Given the description of an element on the screen output the (x, y) to click on. 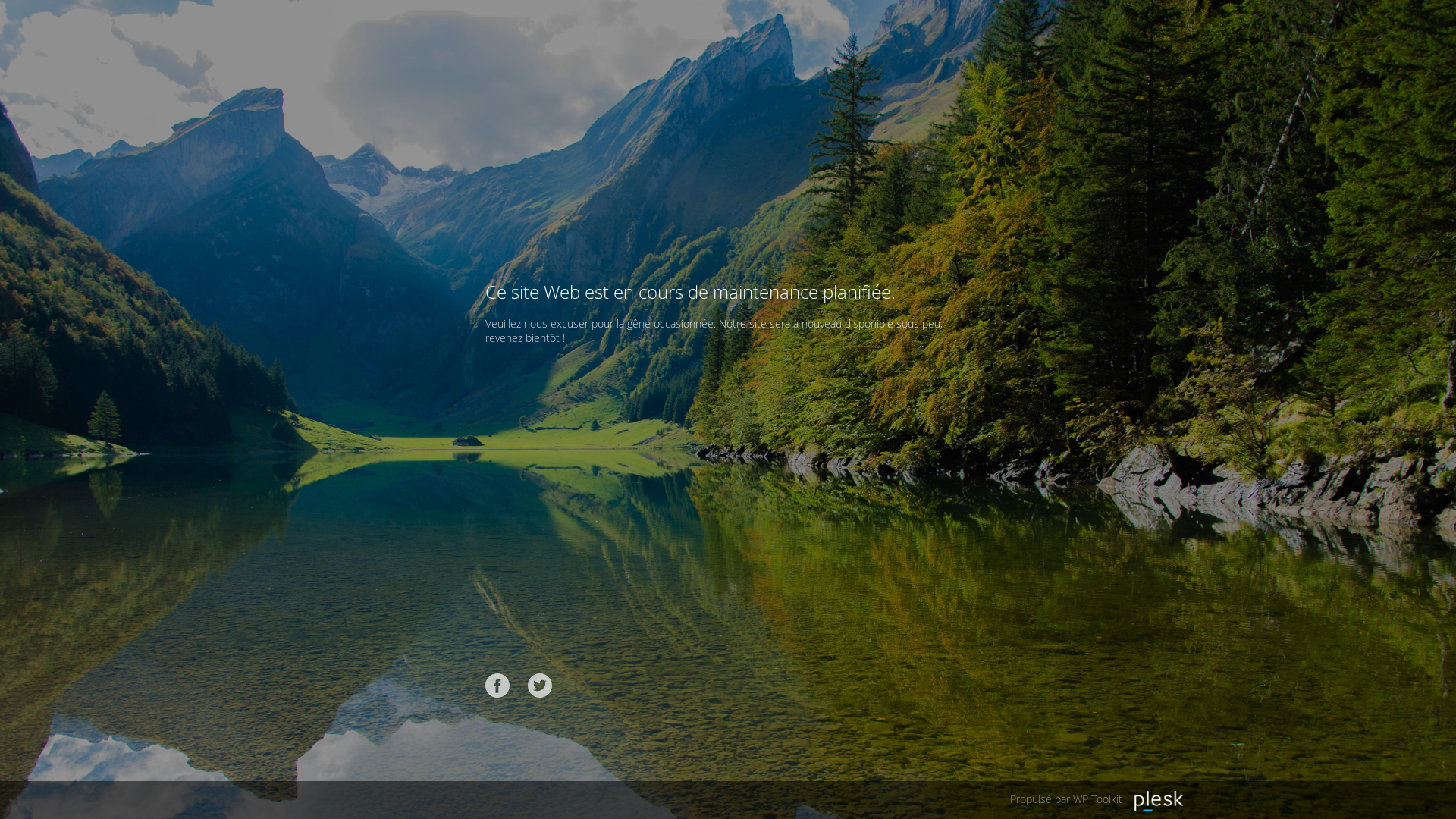
Facebook Element type: hover (497, 685)
Twitter Element type: hover (539, 685)
